Given the description of an element on the screen output the (x, y) to click on. 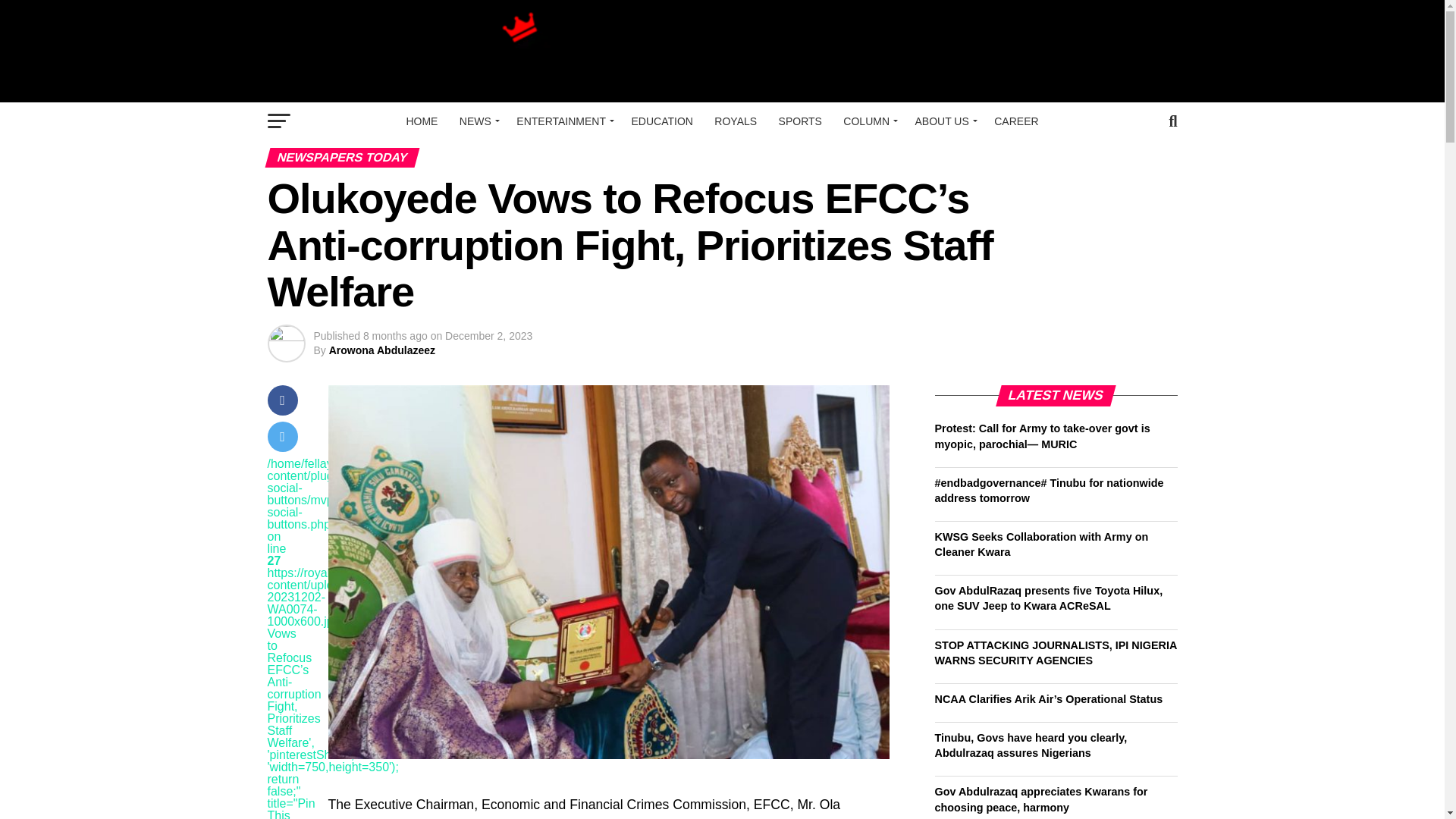
HOME (421, 121)
NEWS (476, 121)
Posts by Arowona Abdulazeez (382, 349)
